Given the description of an element on the screen output the (x, y) to click on. 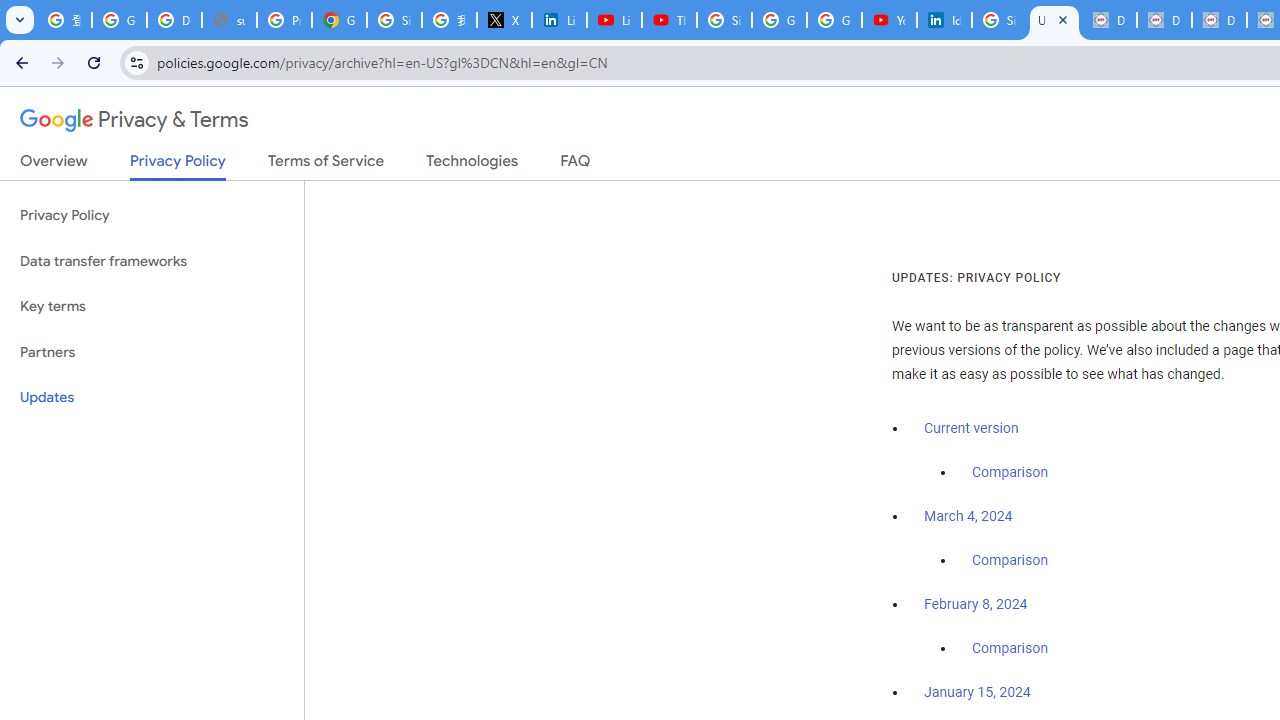
Data Privacy Framework (1163, 20)
Data Privacy Framework (1218, 20)
Data transfer frameworks (152, 261)
X (504, 20)
Technologies (472, 165)
February 8, 2024 (975, 605)
Key terms (152, 306)
